Given the description of an element on the screen output the (x, y) to click on. 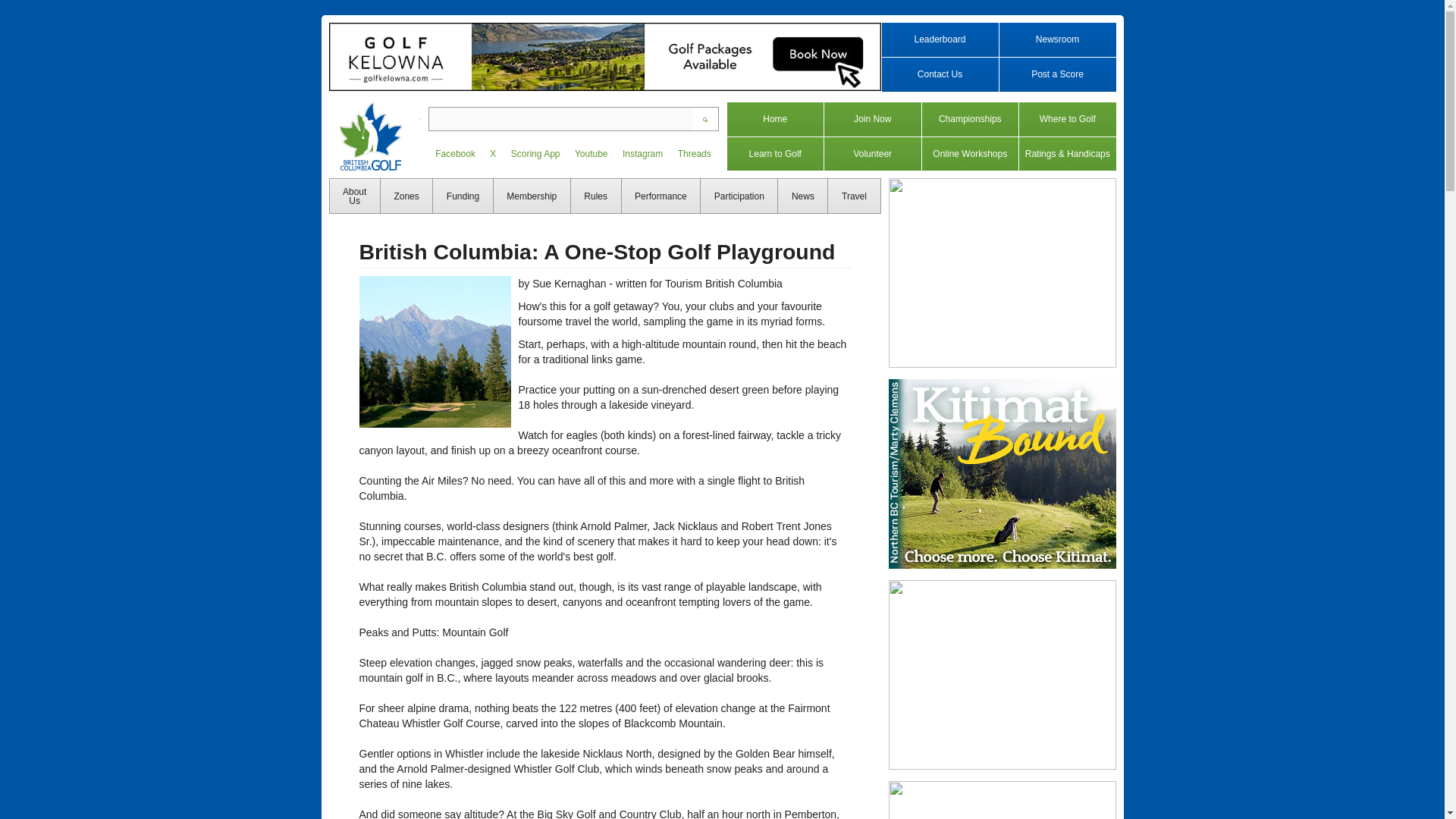
Newsroom (1056, 39)
Facebook (454, 149)
Volunteer (872, 154)
Where to Golf (1066, 119)
Instagram (641, 149)
About Us (353, 195)
Online Workshops (968, 154)
Join Now (872, 119)
Scoring App (535, 149)
Learn to Golf (775, 154)
